Given the description of an element on the screen output the (x, y) to click on. 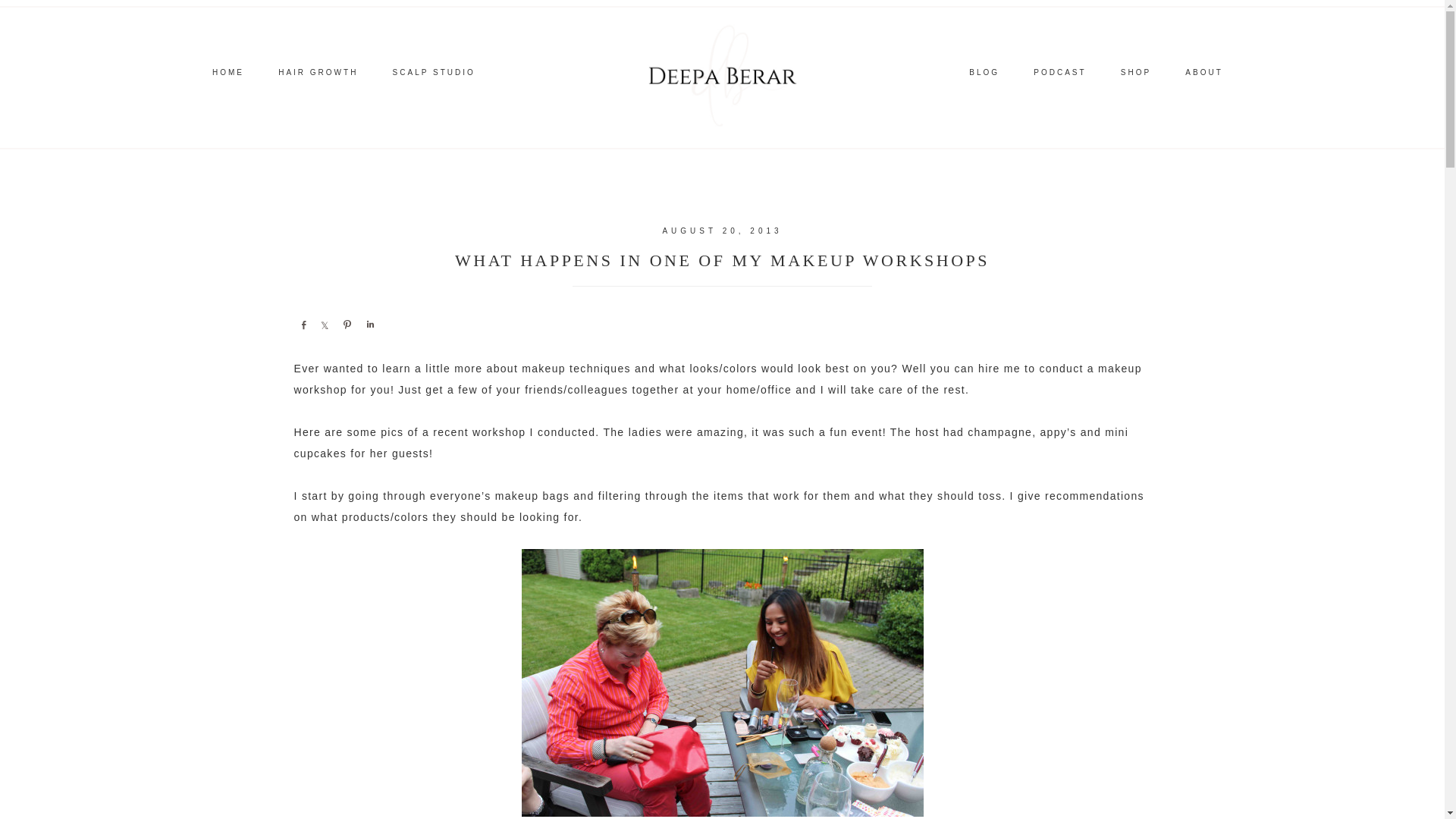
DEEPA BERAR (722, 75)
Share (303, 324)
SCALP STUDIO (433, 75)
HOME (227, 75)
HAIR GROWTH (317, 75)
Share (368, 324)
ABOUT (1203, 75)
Share (324, 324)
PODCAST (1058, 75)
BLOG (983, 75)
SHOP (1135, 75)
Pin (346, 324)
